Given the description of an element on the screen output the (x, y) to click on. 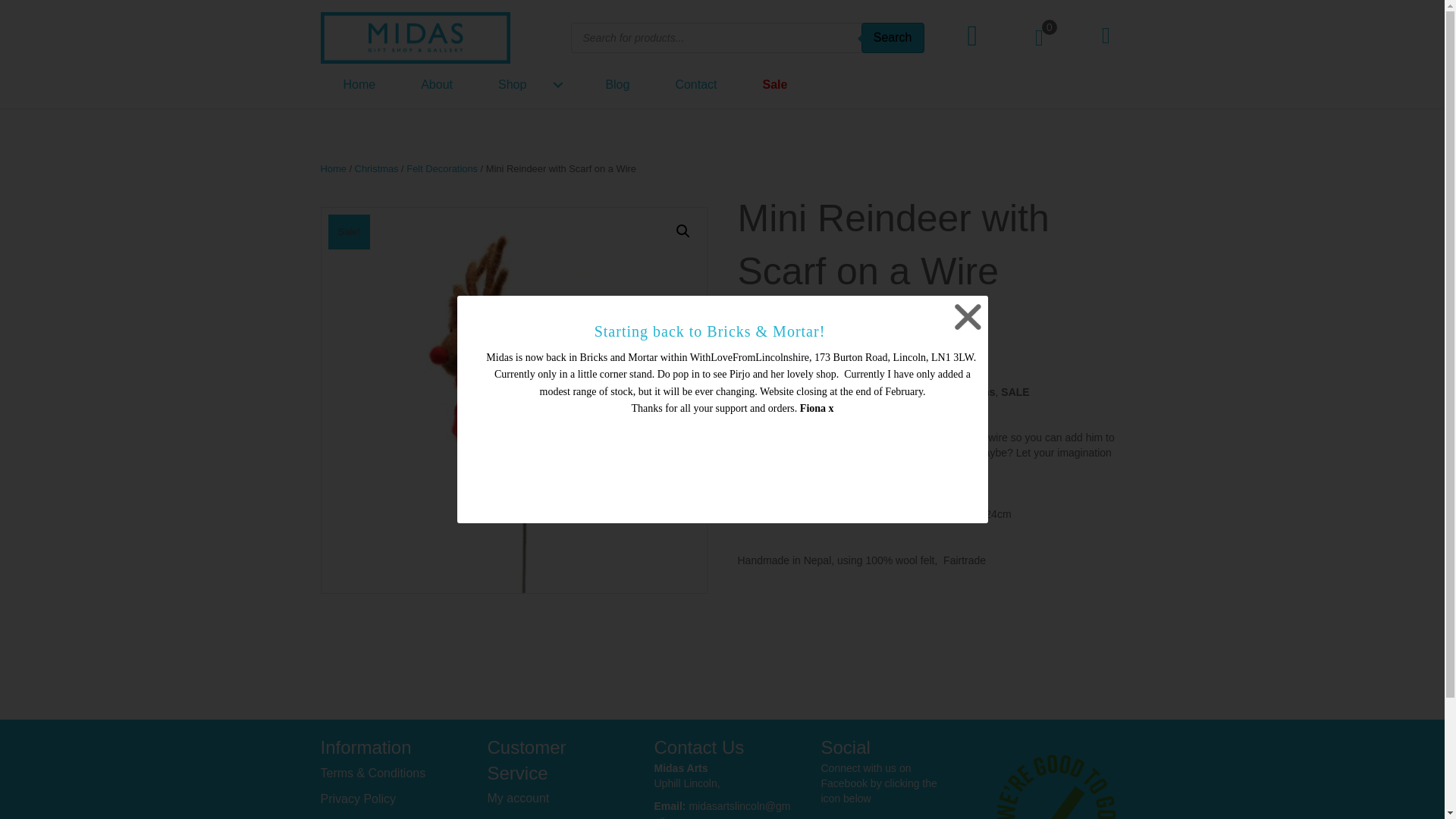
Blog (617, 83)
Shop (529, 83)
midas-blue (414, 38)
Sale (774, 83)
Search (892, 37)
Contact (695, 83)
Home (358, 83)
Good To Go png (1055, 784)
About (436, 83)
